Given the description of an element on the screen output the (x, y) to click on. 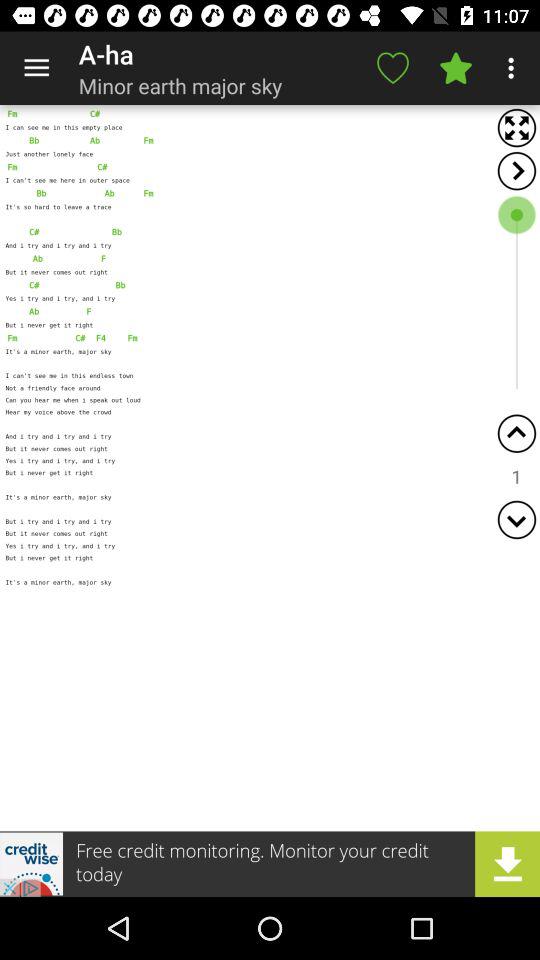
full screen (516, 127)
